Given the description of an element on the screen output the (x, y) to click on. 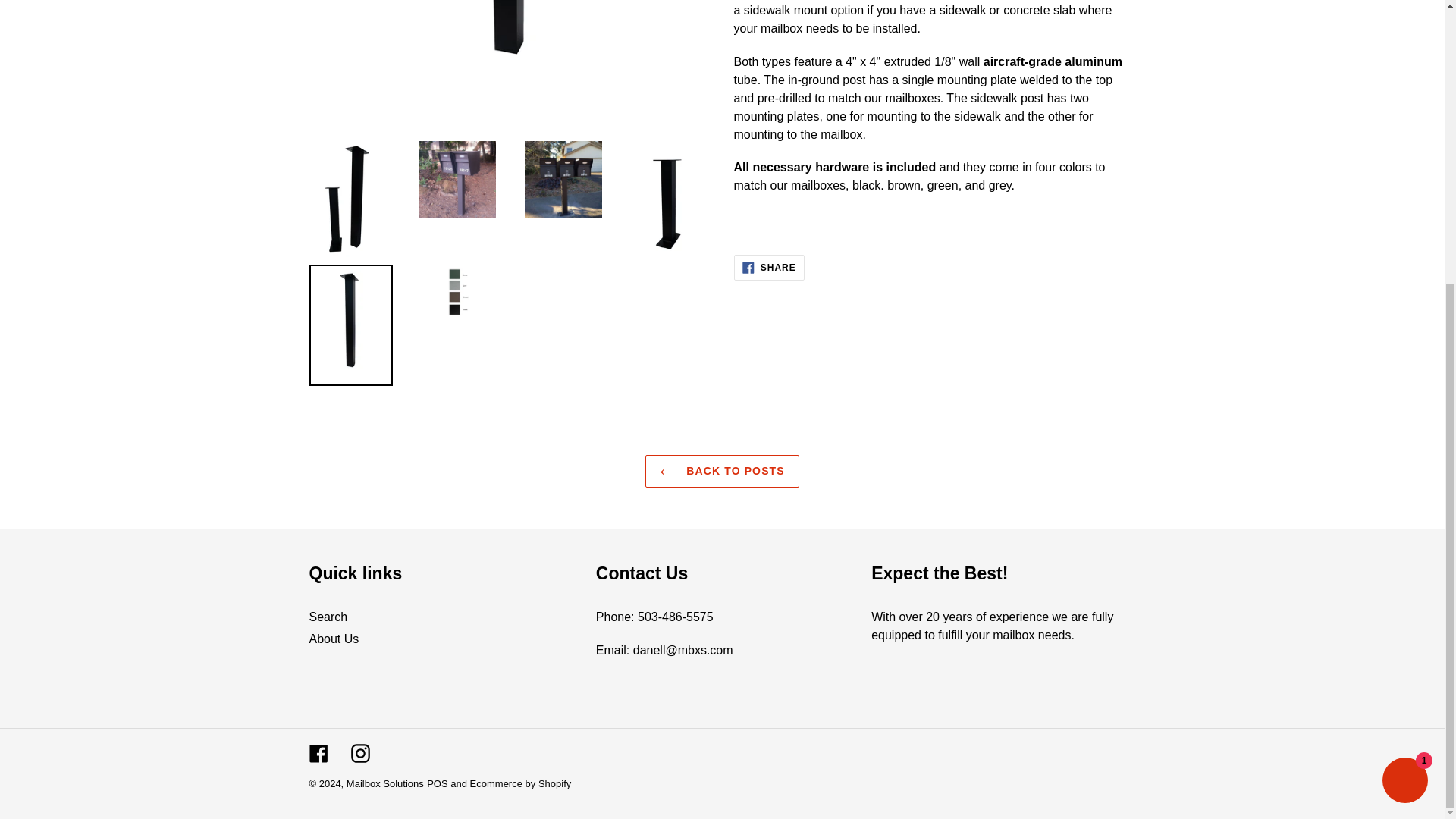
Shopify online store chat (1404, 357)
